Given the description of an element on the screen output the (x, y) to click on. 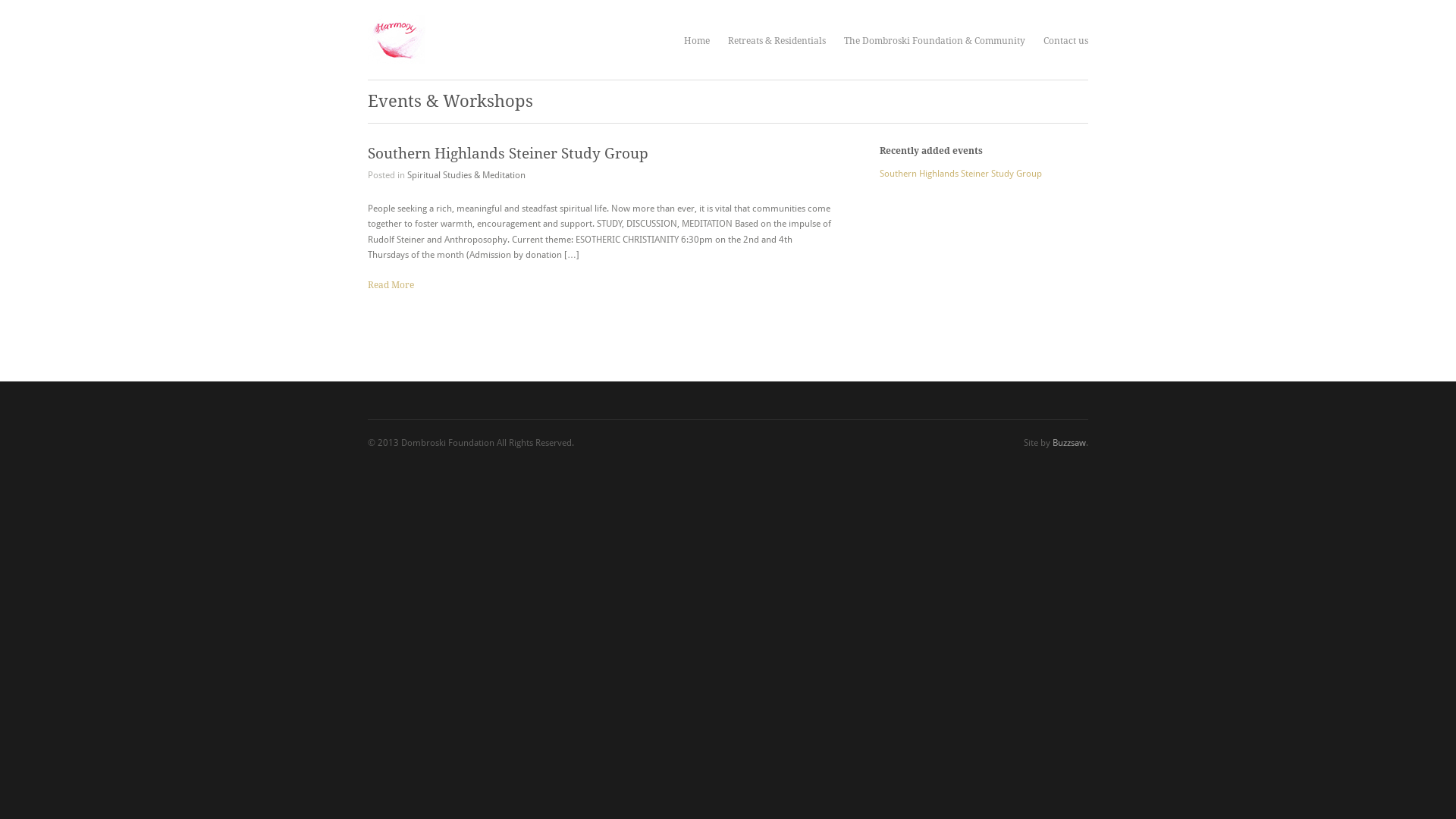
Spiritual Studies & Meditation Element type: text (466, 174)
Southern Highlands Steiner Study Group Element type: text (960, 173)
Read More Element type: text (390, 284)
Home Element type: text (696, 40)
Contact us Element type: text (1065, 40)
Retreats & Residentials Element type: text (776, 40)
Buzzsaw Element type: text (1068, 442)
Southern Highlands Steiner Study Group Element type: text (507, 153)
